Given the description of an element on the screen output the (x, y) to click on. 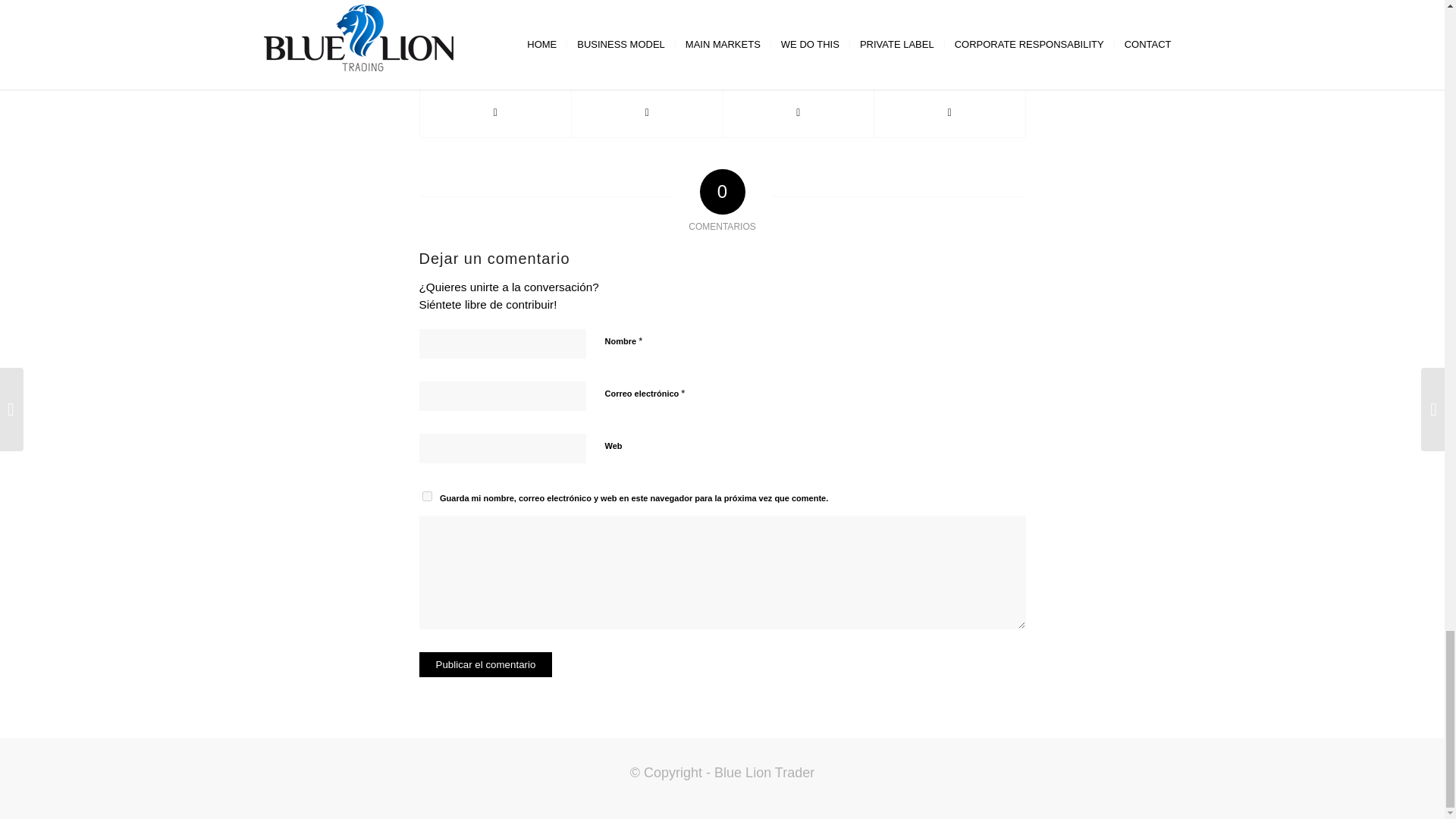
0 COMENTARIOS (714, 7)
Publicar el comentario (485, 664)
yes (426, 496)
Publicar el comentario (485, 664)
Entradas de maxi (829, 7)
MAXI (829, 7)
